Given the description of an element on the screen output the (x, y) to click on. 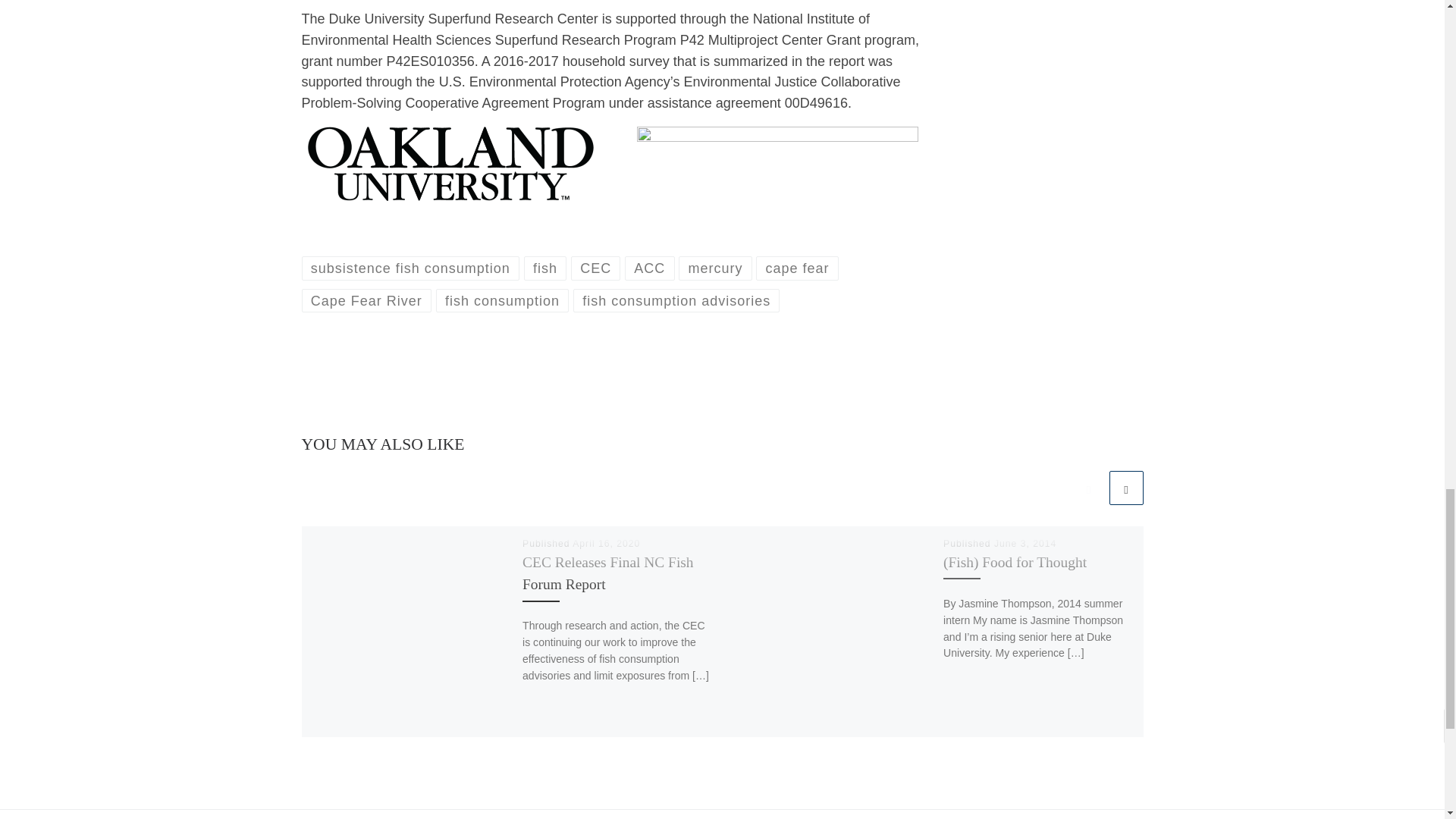
View all posts in mercury (715, 268)
View all posts in CEC (595, 268)
Previous related articles (1088, 487)
View all posts in fish (545, 268)
View all posts in fish consumption advisories (676, 300)
View all posts in subsistence fish consumption (410, 268)
View all posts in Cape Fear River (366, 300)
View all posts in cape fear (796, 268)
View all posts in ACC (649, 268)
View all posts in fish consumption (502, 300)
